Given the description of an element on the screen output the (x, y) to click on. 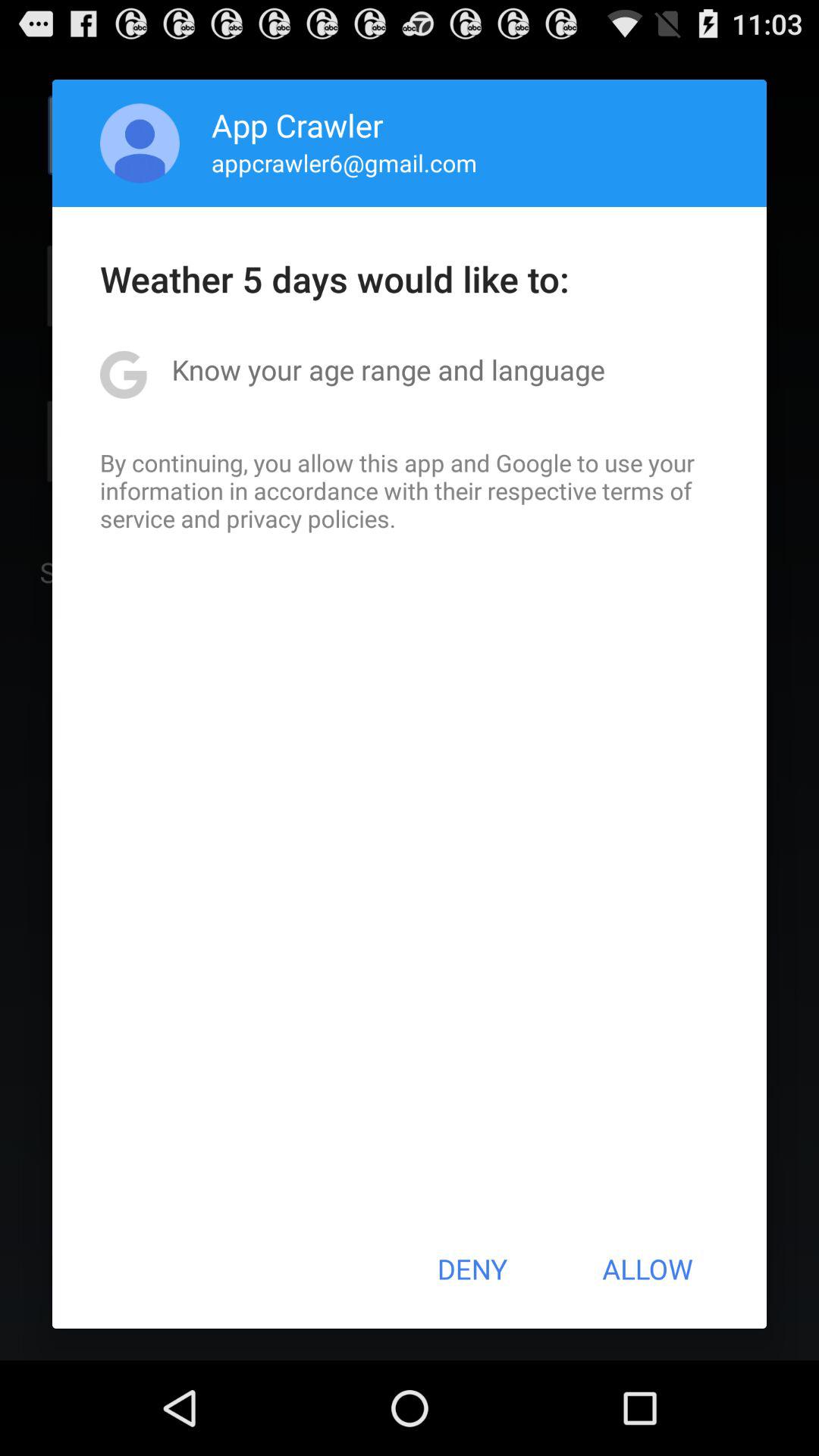
turn on icon next to the allow button (471, 1268)
